Given the description of an element on the screen output the (x, y) to click on. 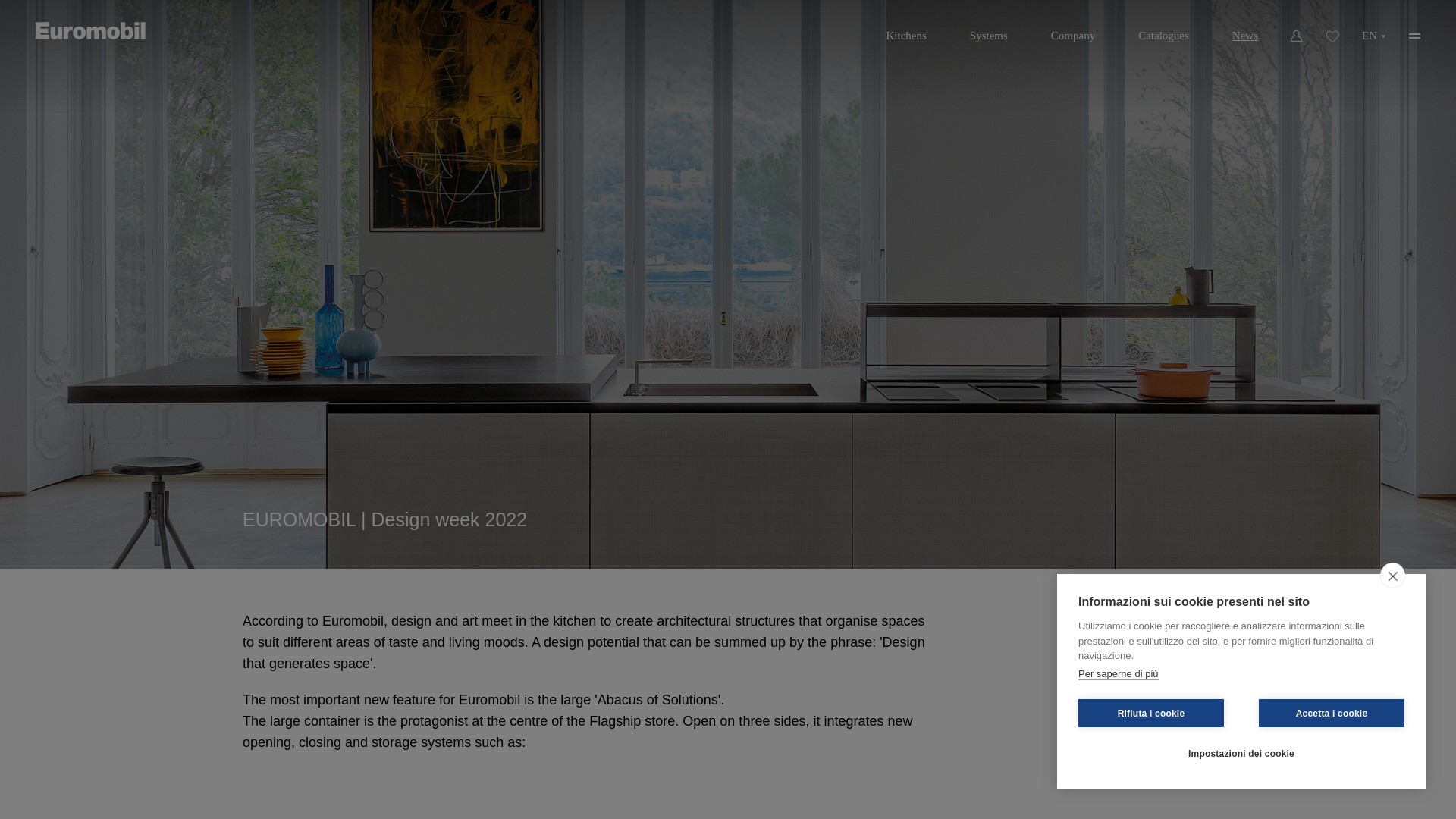
Kitchens (906, 30)
Company (1072, 30)
Systems (988, 30)
Catalogues (1162, 30)
